Given the description of an element on the screen output the (x, y) to click on. 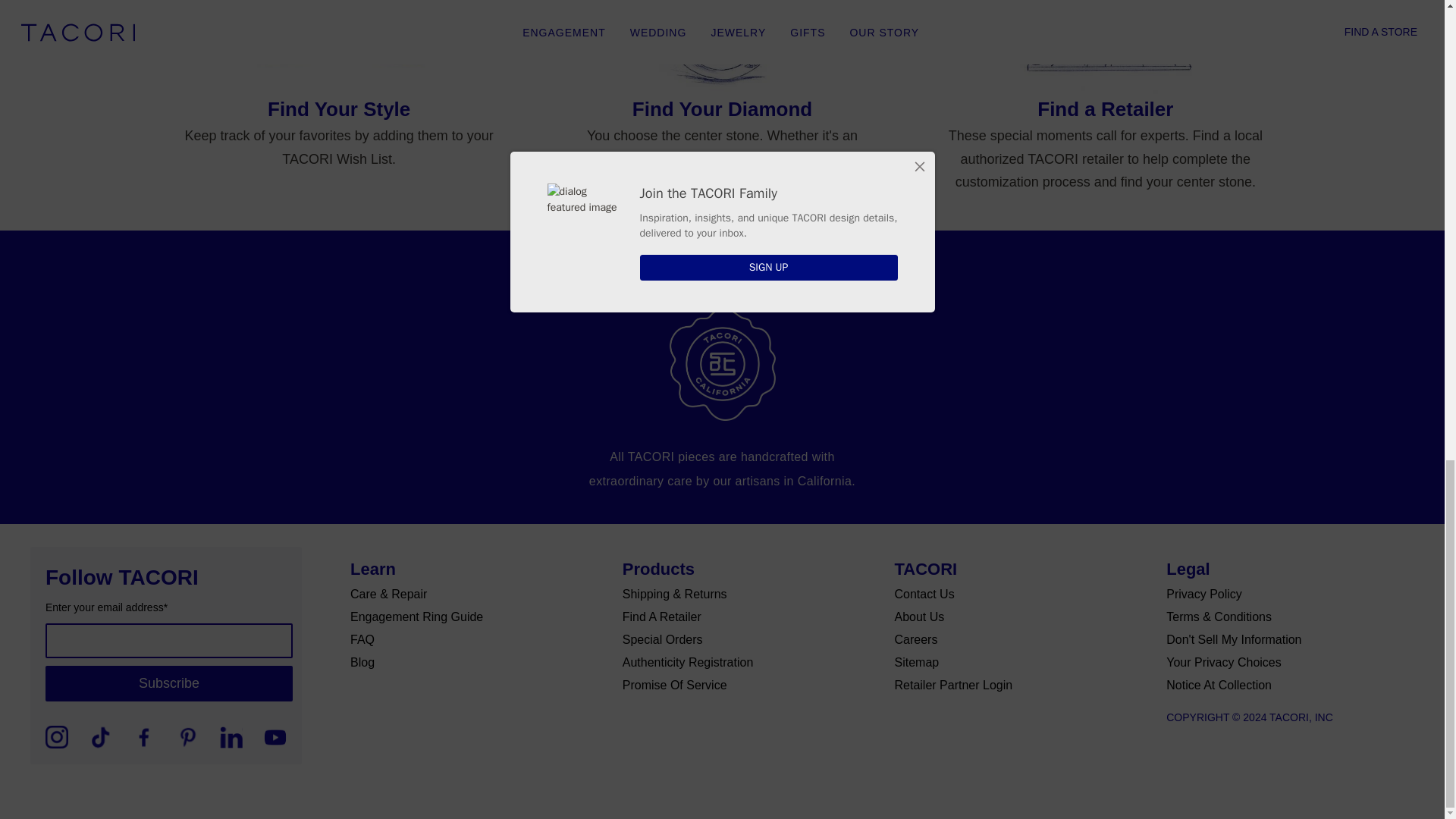
Subscribe (168, 683)
